Given the description of an element on the screen output the (x, y) to click on. 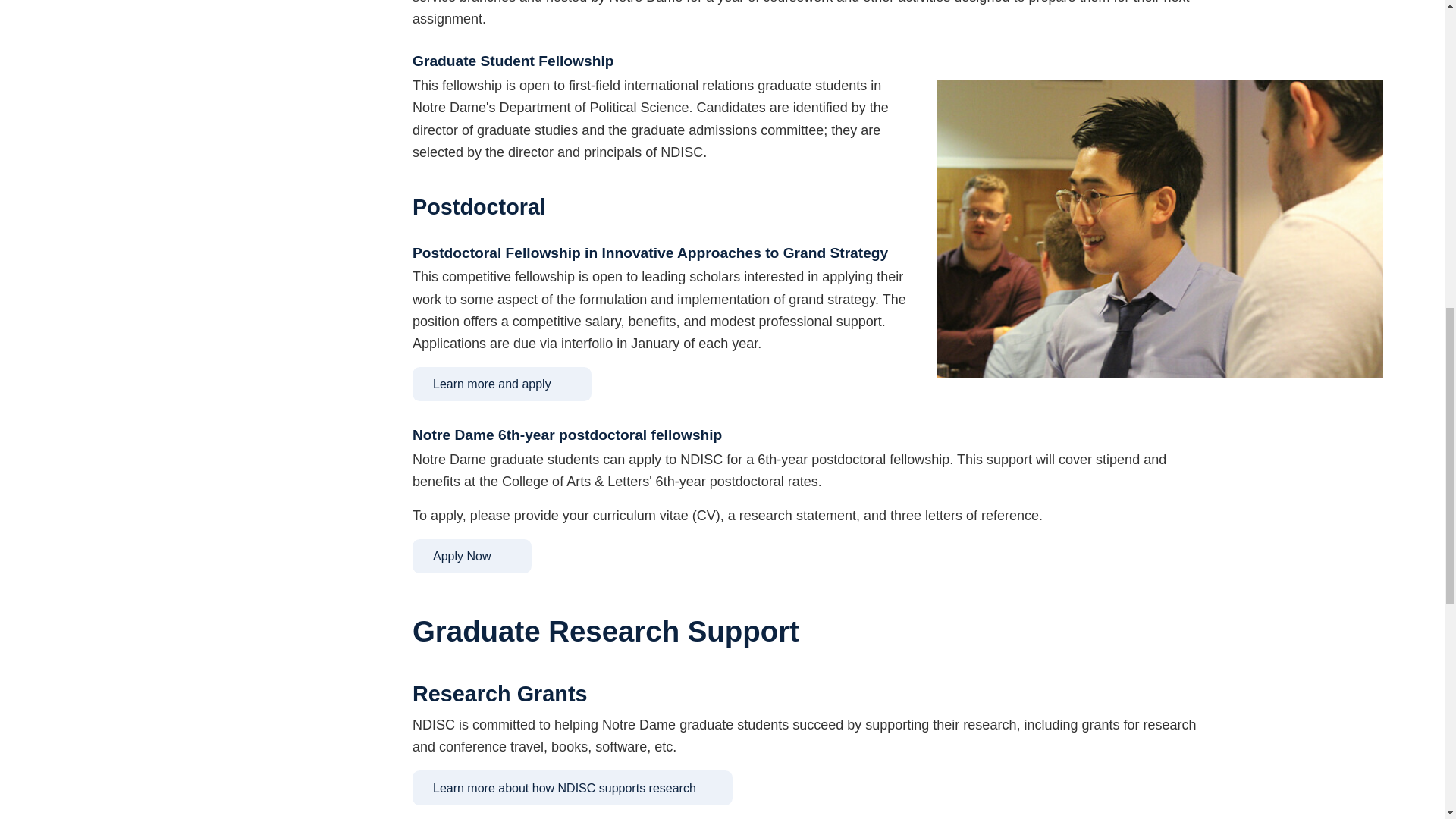
Learn more and apply (501, 383)
